Given the description of an element on the screen output the (x, y) to click on. 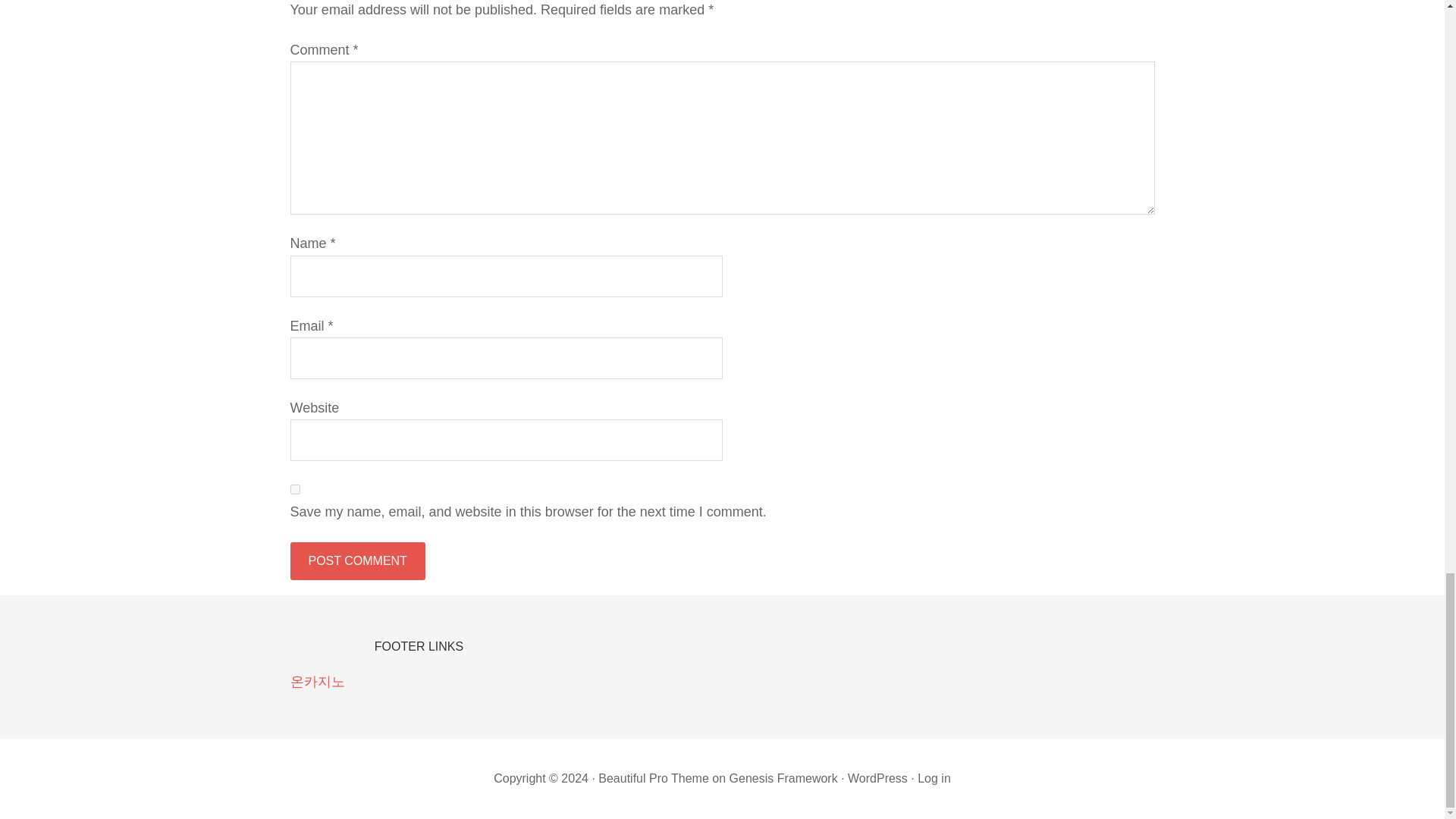
Beautiful Pro Theme (653, 778)
Genesis Framework (783, 778)
Post Comment (357, 560)
Log in (933, 778)
yes (294, 489)
WordPress (877, 778)
Post Comment (357, 560)
